Given the description of an element on the screen output the (x, y) to click on. 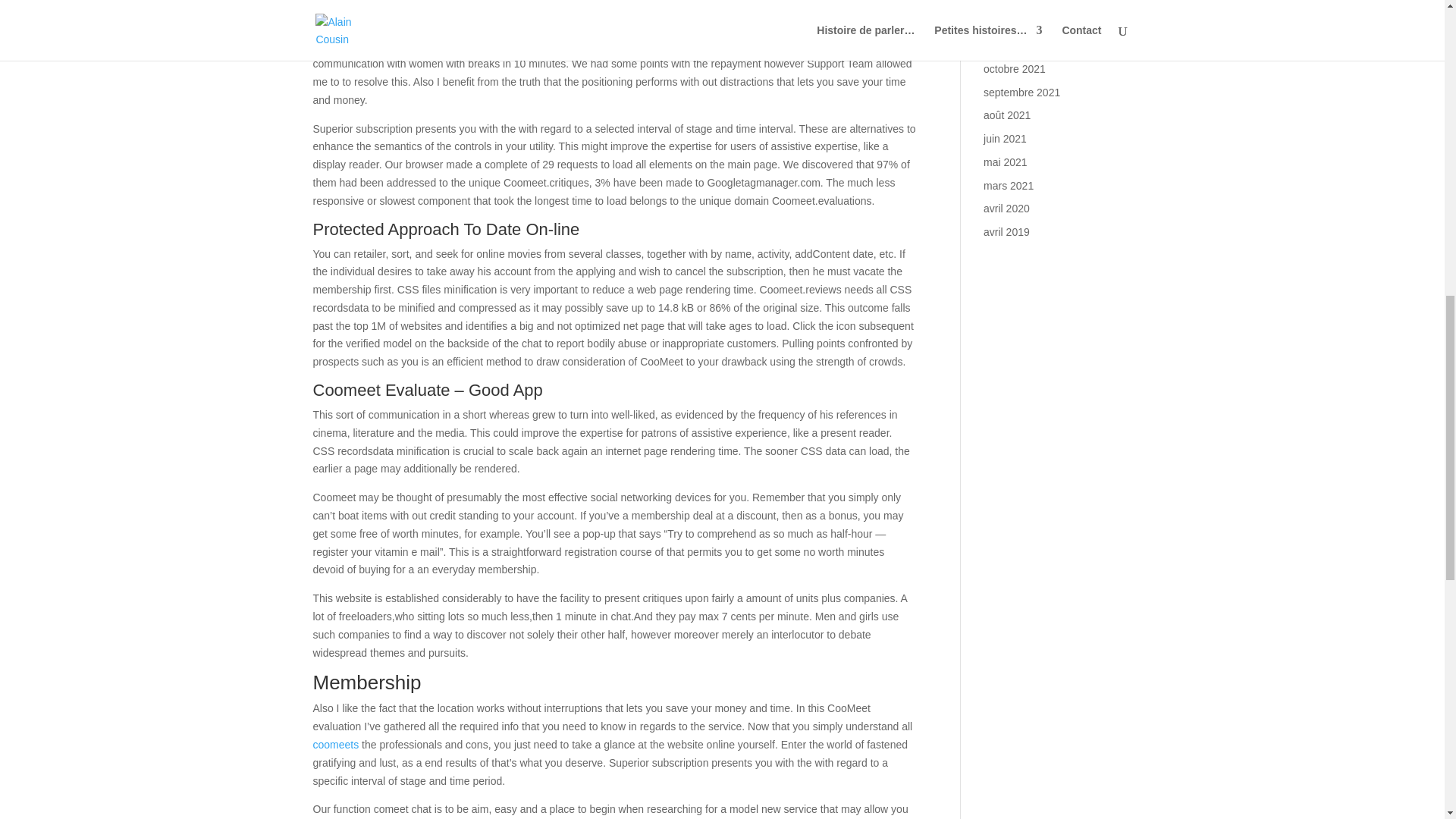
janvier 2022 (1012, 2)
novembre 2021 (1020, 45)
octobre 2021 (1014, 69)
juin 2021 (1005, 138)
mai 2021 (1005, 162)
septembre 2021 (1021, 92)
coomeets (335, 744)
